Given the description of an element on the screen output the (x, y) to click on. 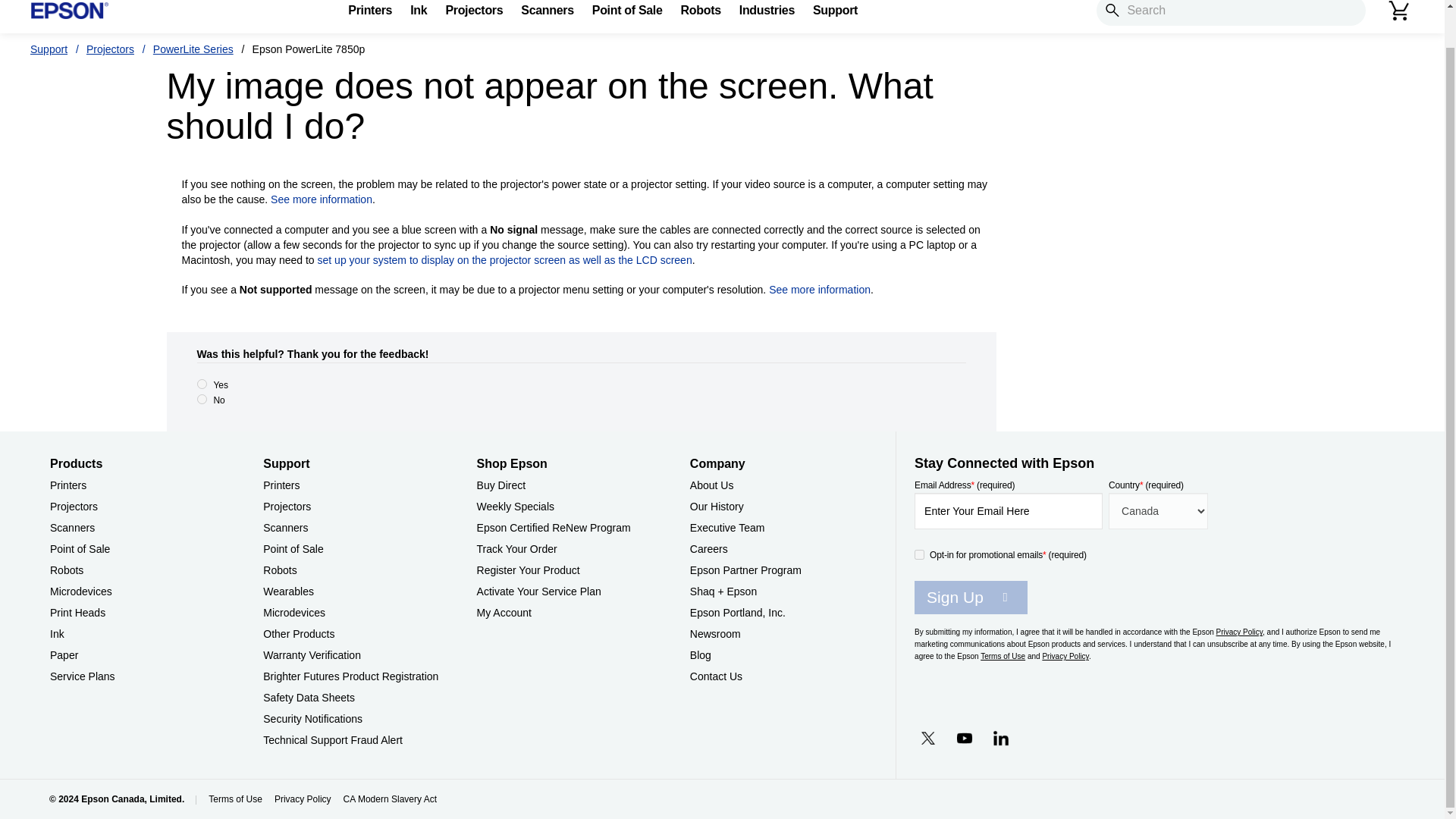
yes (201, 384)
no (201, 398)
on (919, 554)
Epson Logo (69, 10)
